Given the description of an element on the screen output the (x, y) to click on. 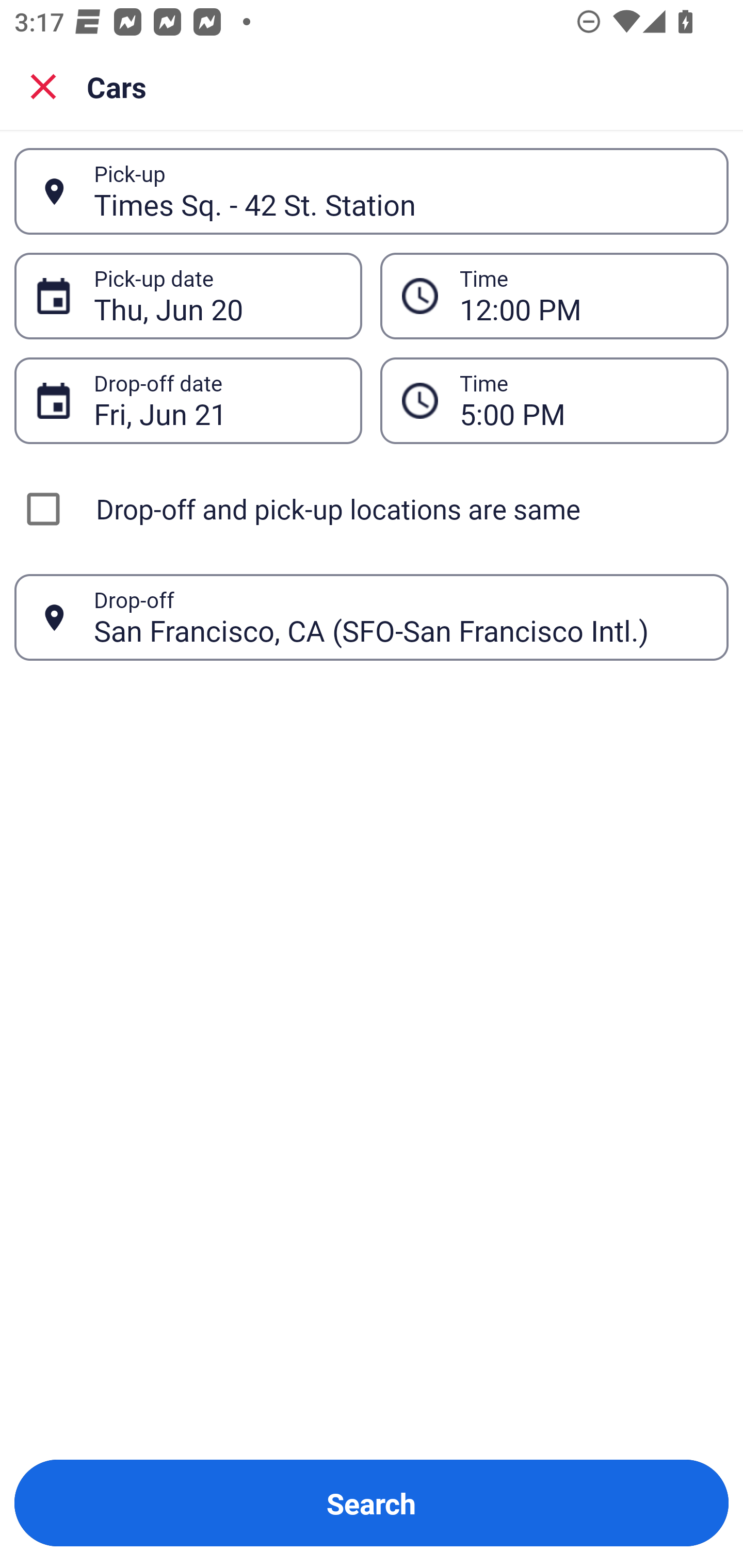
Close search screen (43, 86)
Times Sq. - 42 St. Station Pick-up (371, 191)
Times Sq. - 42 St. Station (399, 191)
Thu, Jun 20 Pick-up date (188, 295)
12:00 PM (554, 295)
Thu, Jun 20 (216, 296)
12:00 PM (582, 296)
Fri, Jun 21 Drop-off date (188, 400)
5:00 PM (554, 400)
Fri, Jun 21 (216, 400)
5:00 PM (582, 400)
Drop-off and pick-up locations are same (371, 508)
San Francisco, CA (SFO-San Francisco Intl.) (399, 616)
Search Button Search (371, 1502)
